Given the description of an element on the screen output the (x, y) to click on. 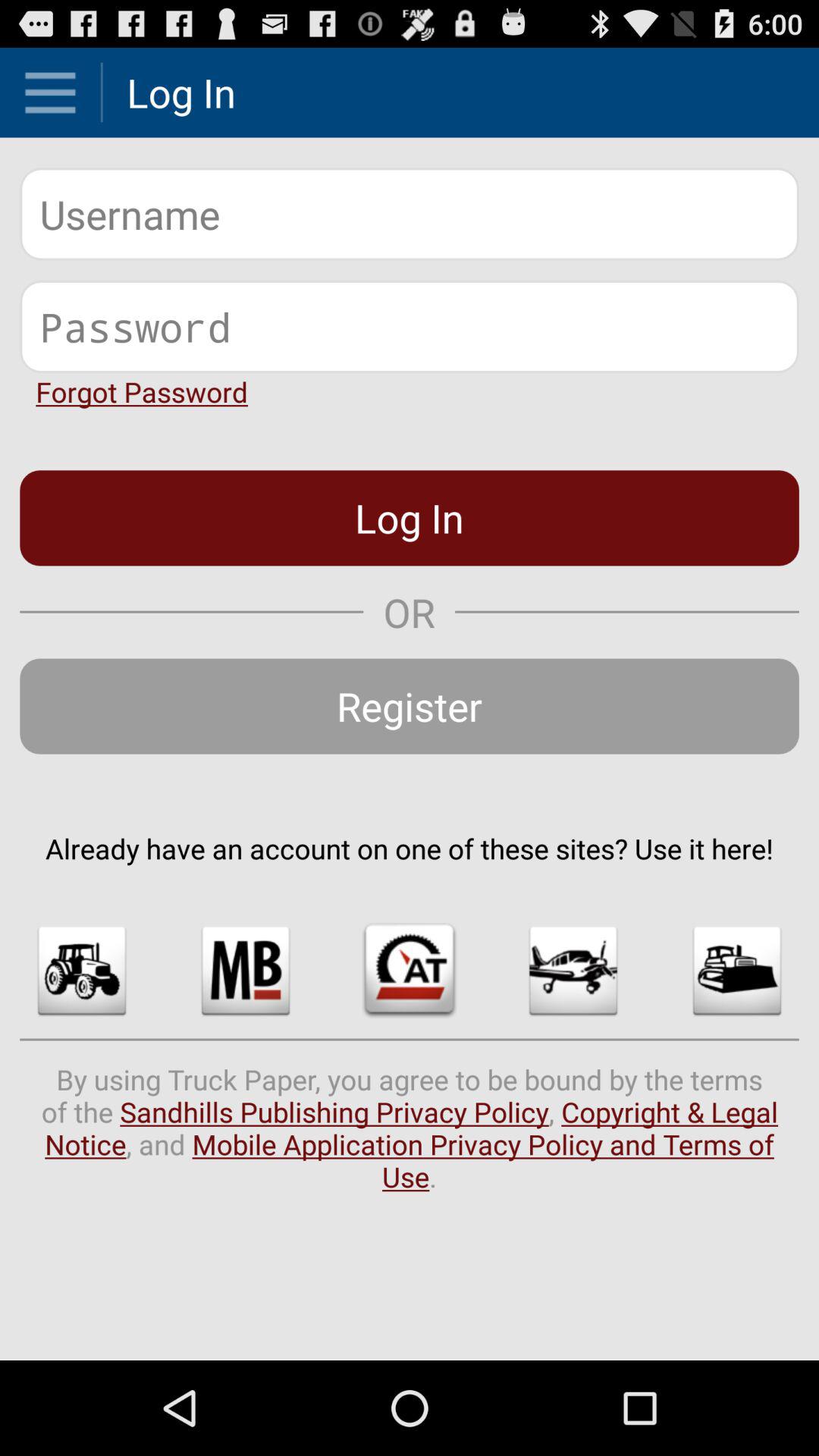
press the icon below already have an (81, 970)
